Given the description of an element on the screen output the (x, y) to click on. 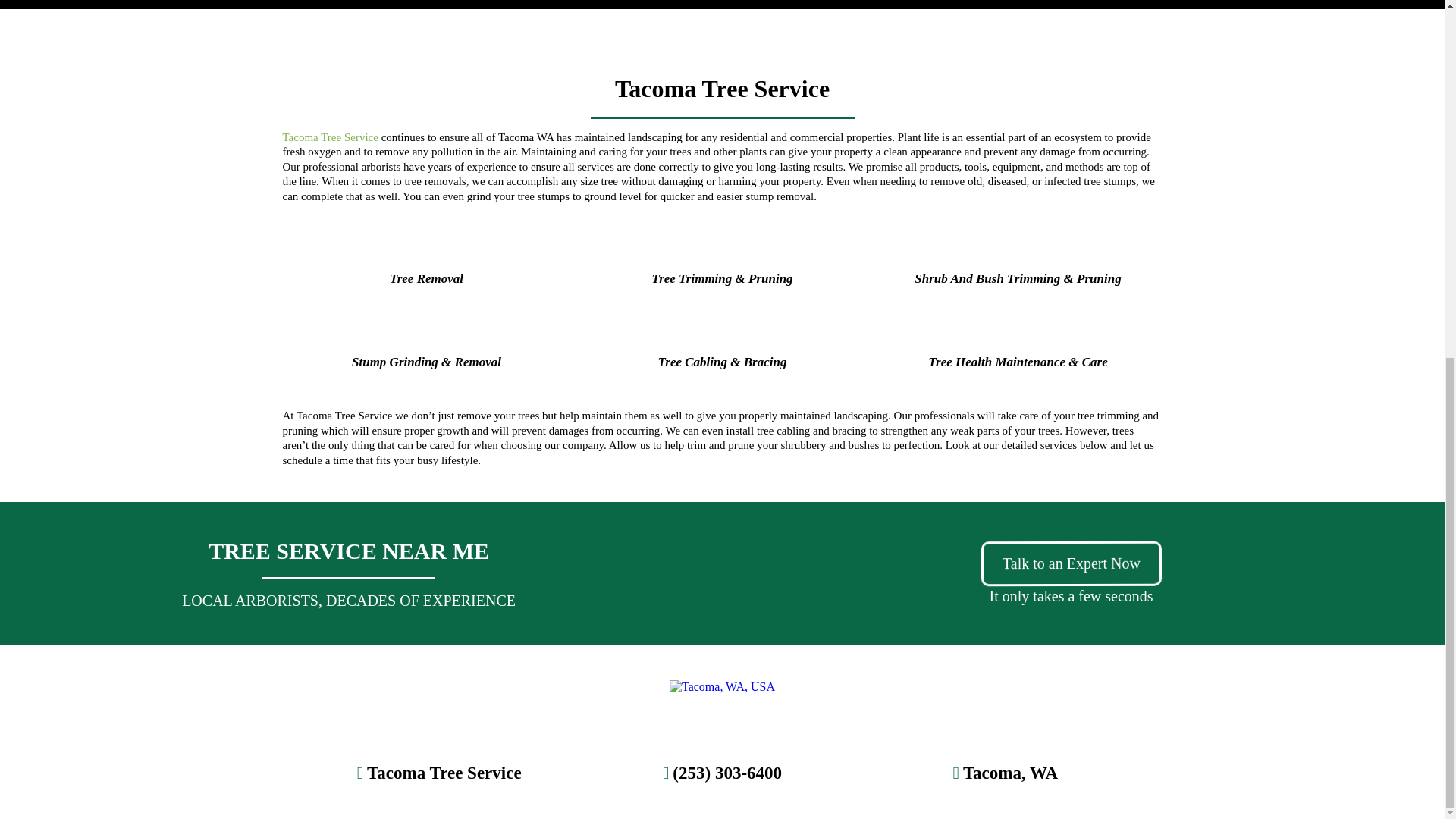
Talk to an Expert Now (1071, 563)
Tacoma Tree Service (329, 137)
